Given the description of an element on the screen output the (x, y) to click on. 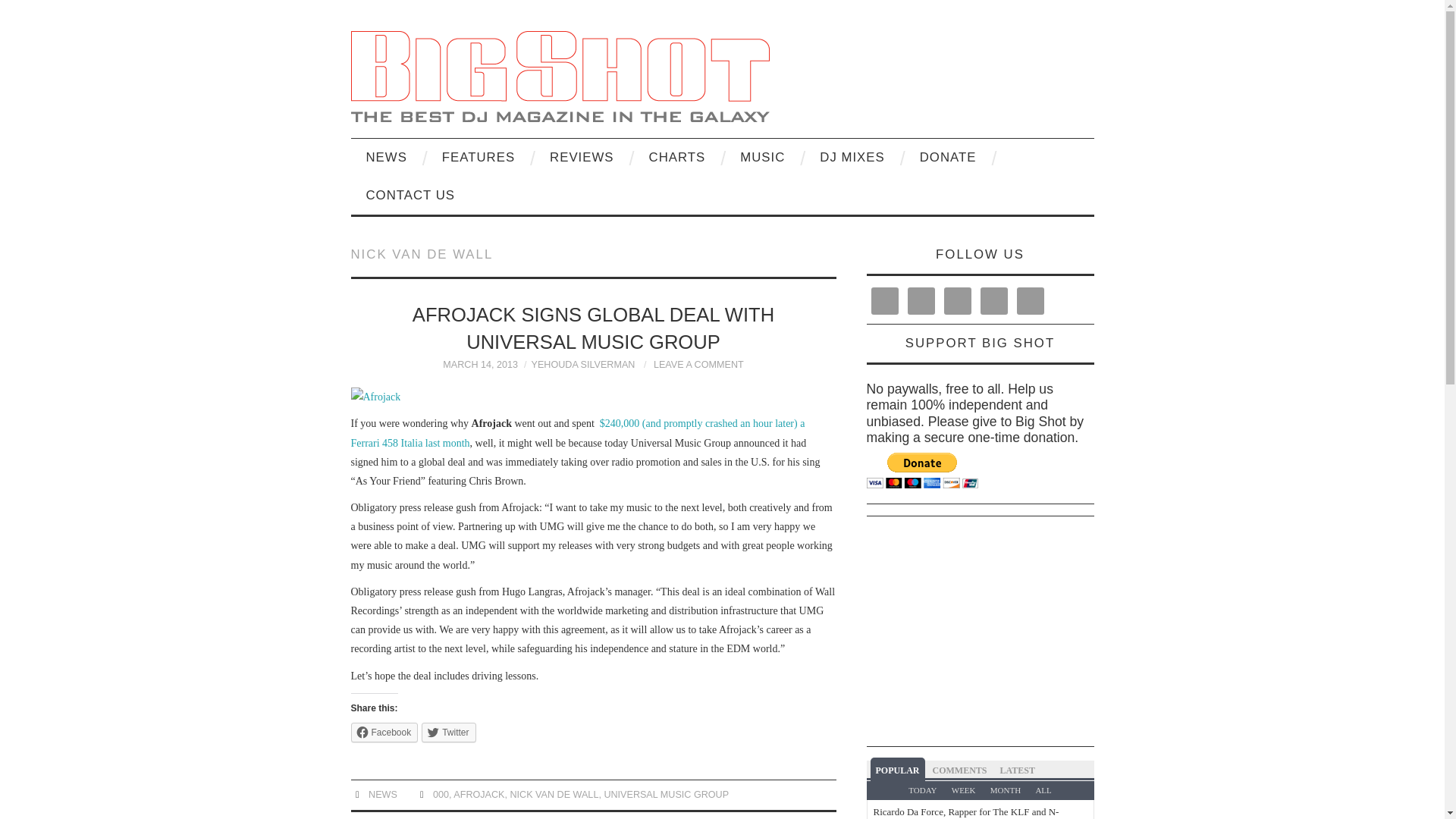
REVIEWS (581, 157)
Click to share on Facebook (383, 732)
NEWS (386, 157)
CONTACT US (410, 195)
Mixes (852, 157)
Twitter (449, 732)
AFROJACK SIGNS GLOBAL DEAL WITH UNIVERSAL MUSIC GROUP (593, 327)
CHARTS (676, 157)
Big Shot Magazine (560, 75)
Contact (410, 195)
UNIVERSAL MUSIC GROUP (666, 794)
Click to share on Twitter (449, 732)
DONATE (947, 157)
MUSIC (762, 157)
 Music (762, 157)
